Given the description of an element on the screen output the (x, y) to click on. 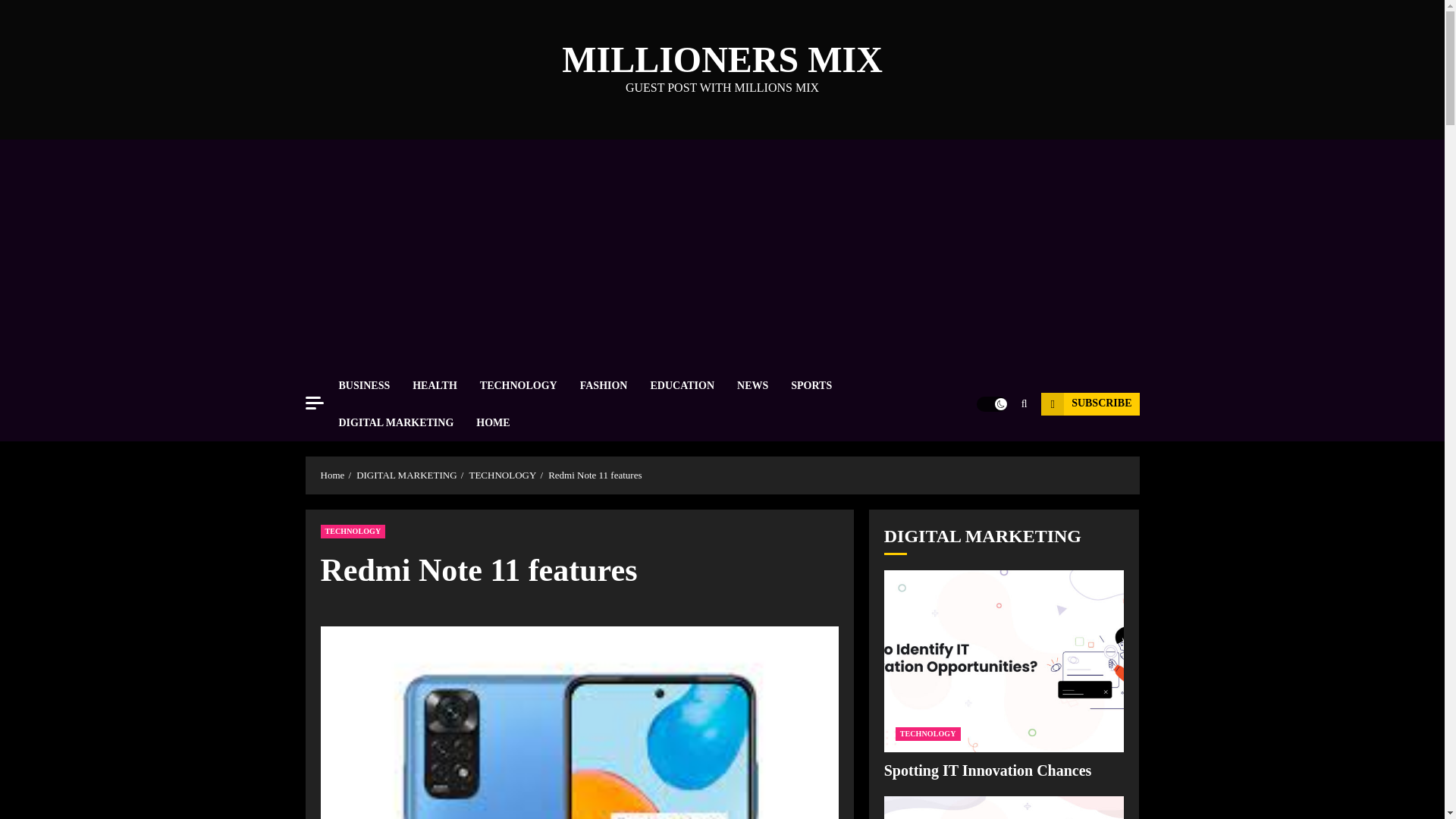
HEALTH (446, 385)
SPORTS (822, 385)
NEWS (763, 385)
MILLIONERS MIX (722, 59)
TECHNOLOGY (529, 385)
BUSINESS (374, 385)
EDUCATION (692, 385)
FASHION (614, 385)
DIGITAL MARKETING (406, 422)
